Given the description of an element on the screen output the (x, y) to click on. 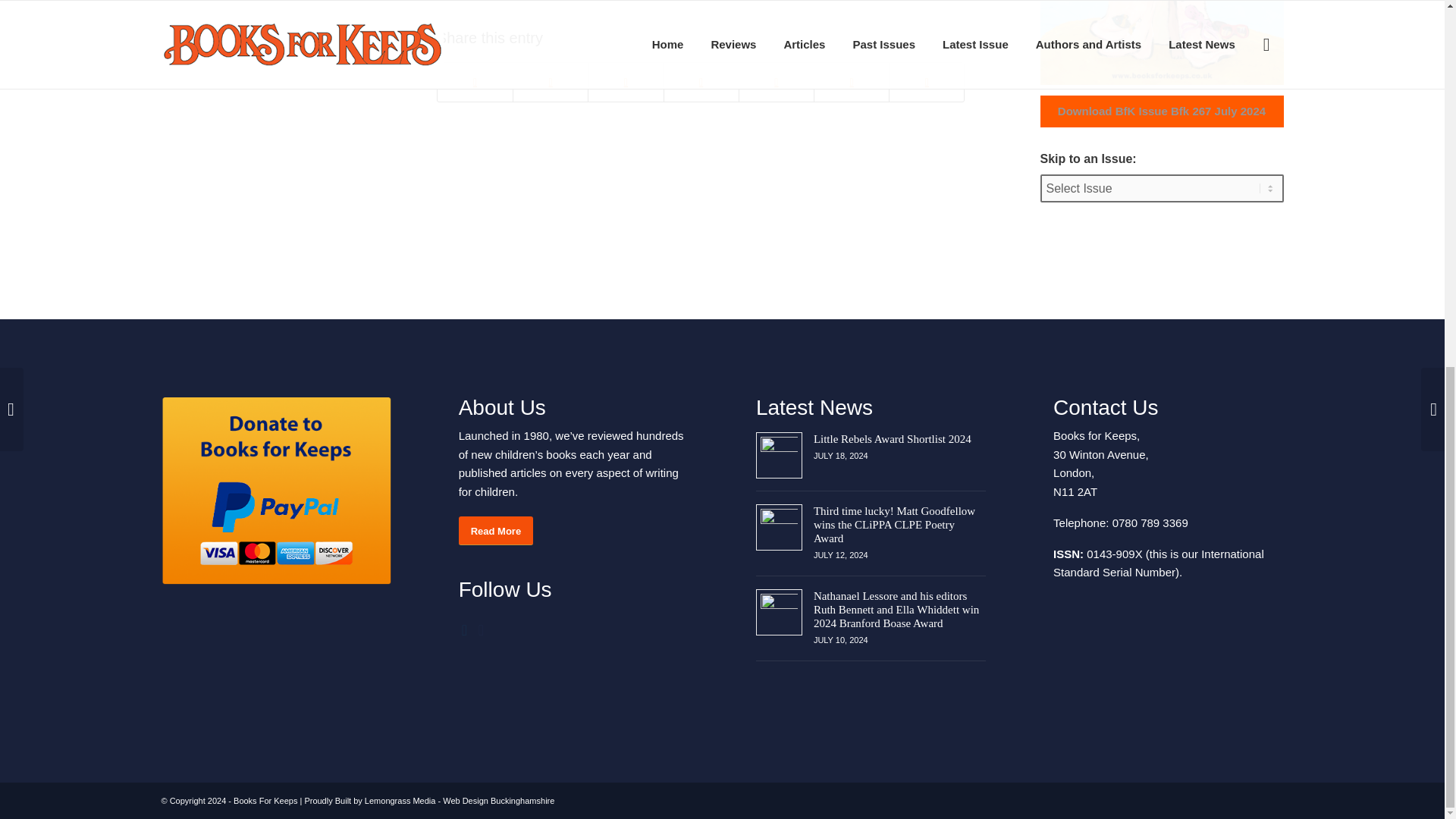
Link to: Little Rebels Award Shortlist 2024 (778, 455)
Little Rebels Award Shortlist 2024 (892, 438)
Read More (495, 531)
Link to: Little Rebels Award Shortlist 2024 (892, 438)
Download BfK Issue Bfk 267 July 2024 (1162, 111)
PayPal - The safer, easier way to pay online! (275, 490)
